Given the description of an element on the screen output the (x, y) to click on. 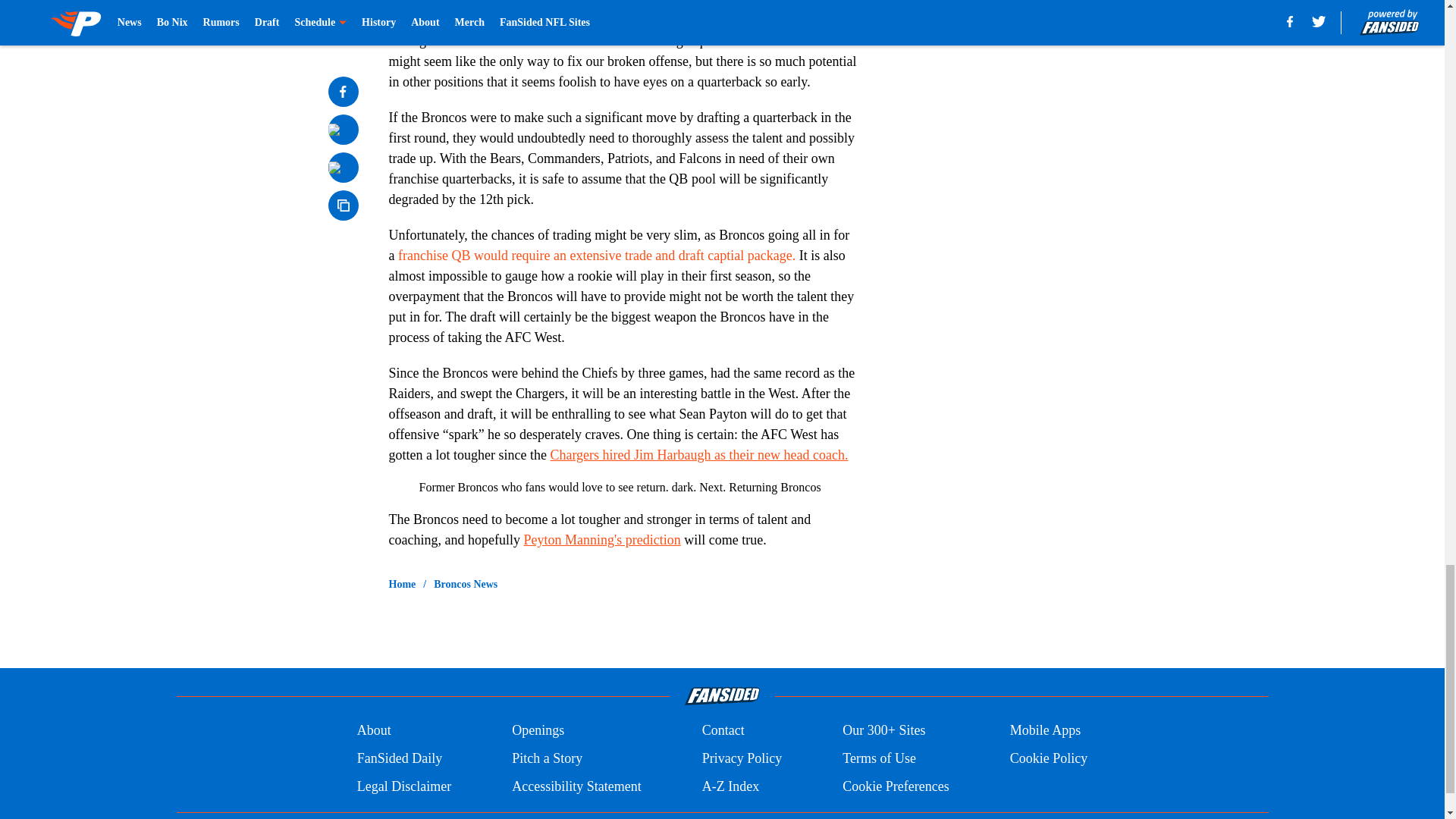
Terms of Use (879, 758)
FanSided Daily (399, 758)
Home (401, 584)
A-Z Index (729, 786)
Peyton Manning's prediction (600, 539)
Legal Disclaimer (403, 786)
Accessibility Statement (576, 786)
Broncos News (465, 584)
Contact (722, 730)
